Given the description of an element on the screen output the (x, y) to click on. 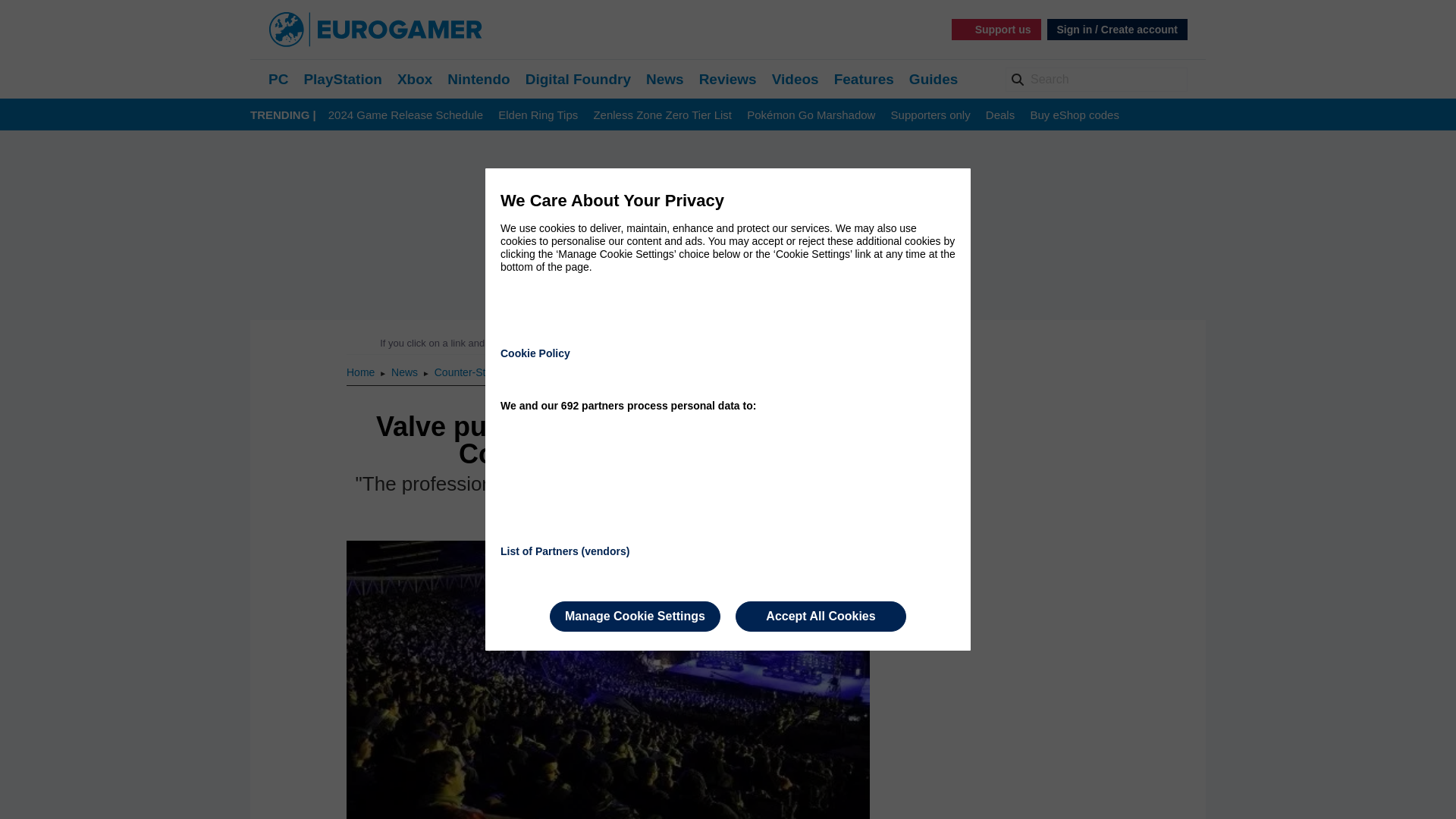
Videos (794, 78)
Xbox (414, 78)
Deals (999, 114)
News (665, 78)
Zenless Zone Zero Tier List (662, 114)
Nintendo (477, 78)
Home (361, 372)
Digital Foundry (577, 78)
2024 Game Release Schedule (406, 114)
Read our editorial policy (781, 342)
Support us (996, 29)
Supporters only (931, 114)
Reviews (727, 78)
Features (863, 78)
Elden Ring Tips (537, 114)
